Given the description of an element on the screen output the (x, y) to click on. 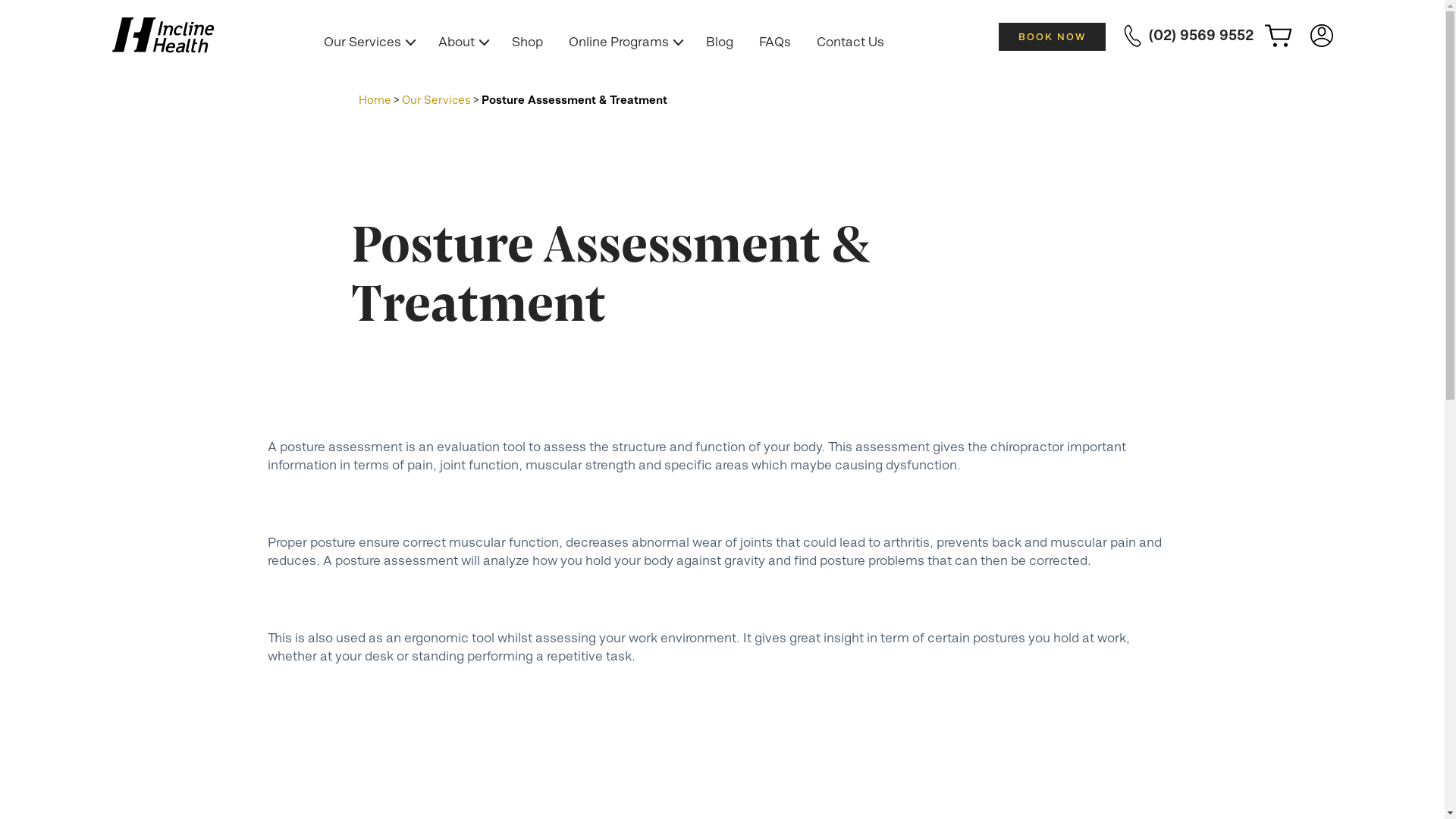
Our Services Element type: text (367, 41)
Our Services Element type: text (435, 99)
(02) 9569 9552 Element type: text (1188, 37)
BOOK NOW Element type: text (1051, 36)
Home Element type: text (373, 99)
Online Programs Element type: text (624, 41)
About Element type: text (461, 41)
Blog Element type: text (719, 41)
Shop Element type: text (527, 41)
Your cart is empty. Element type: hover (1285, 40)
Contact Us Element type: text (850, 41)
FAQs Element type: text (774, 41)
